Given the description of an element on the screen output the (x, y) to click on. 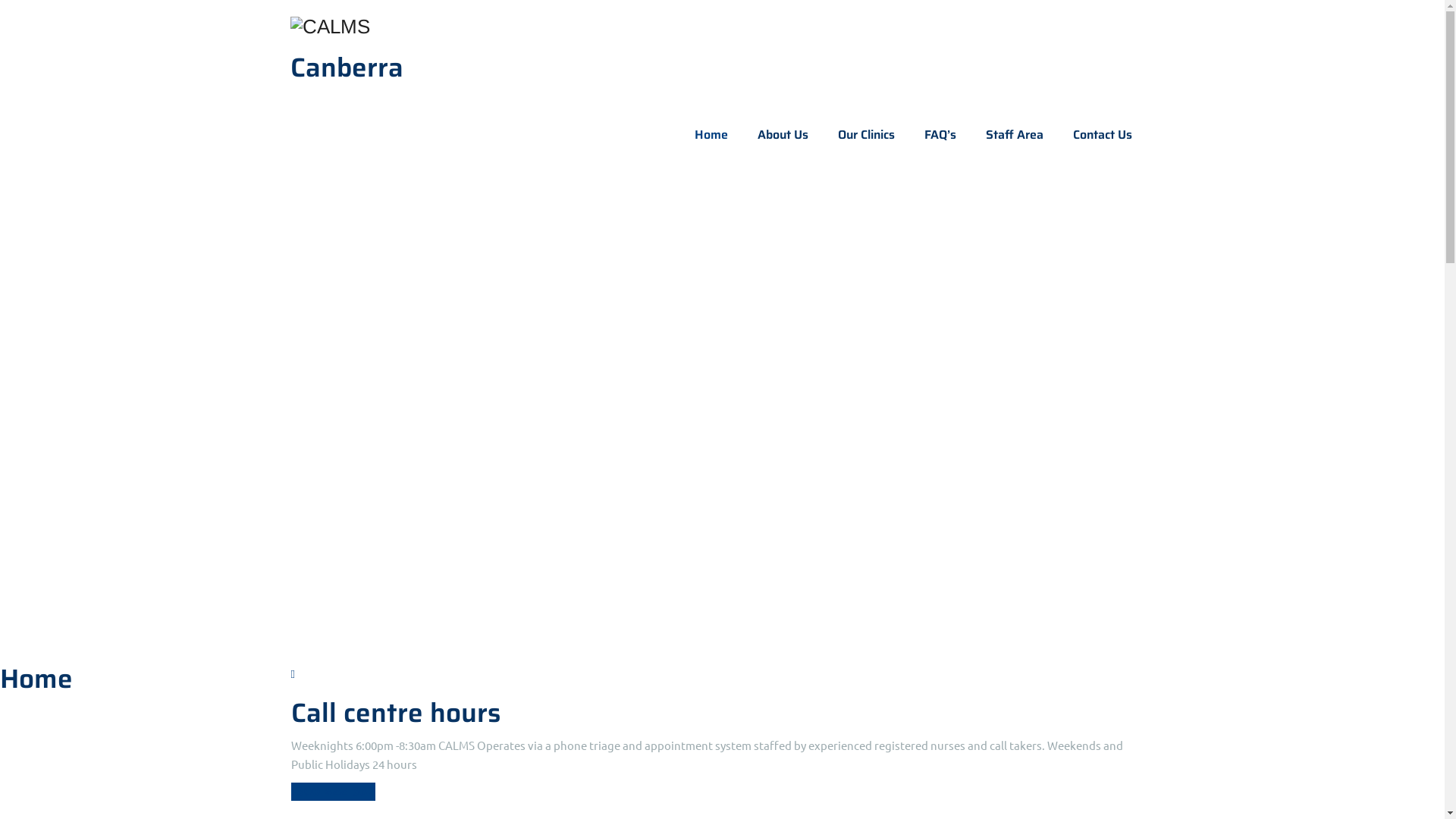
1300 422 567 Element type: text (333, 791)
Contact Us Element type: text (1101, 134)
Our Clinics Element type: text (865, 134)
CALMS Element type: hover (721, 26)
Staff Area Element type: text (1014, 134)
Home Element type: text (710, 134)
About Us Element type: text (782, 134)
